Given the description of an element on the screen output the (x, y) to click on. 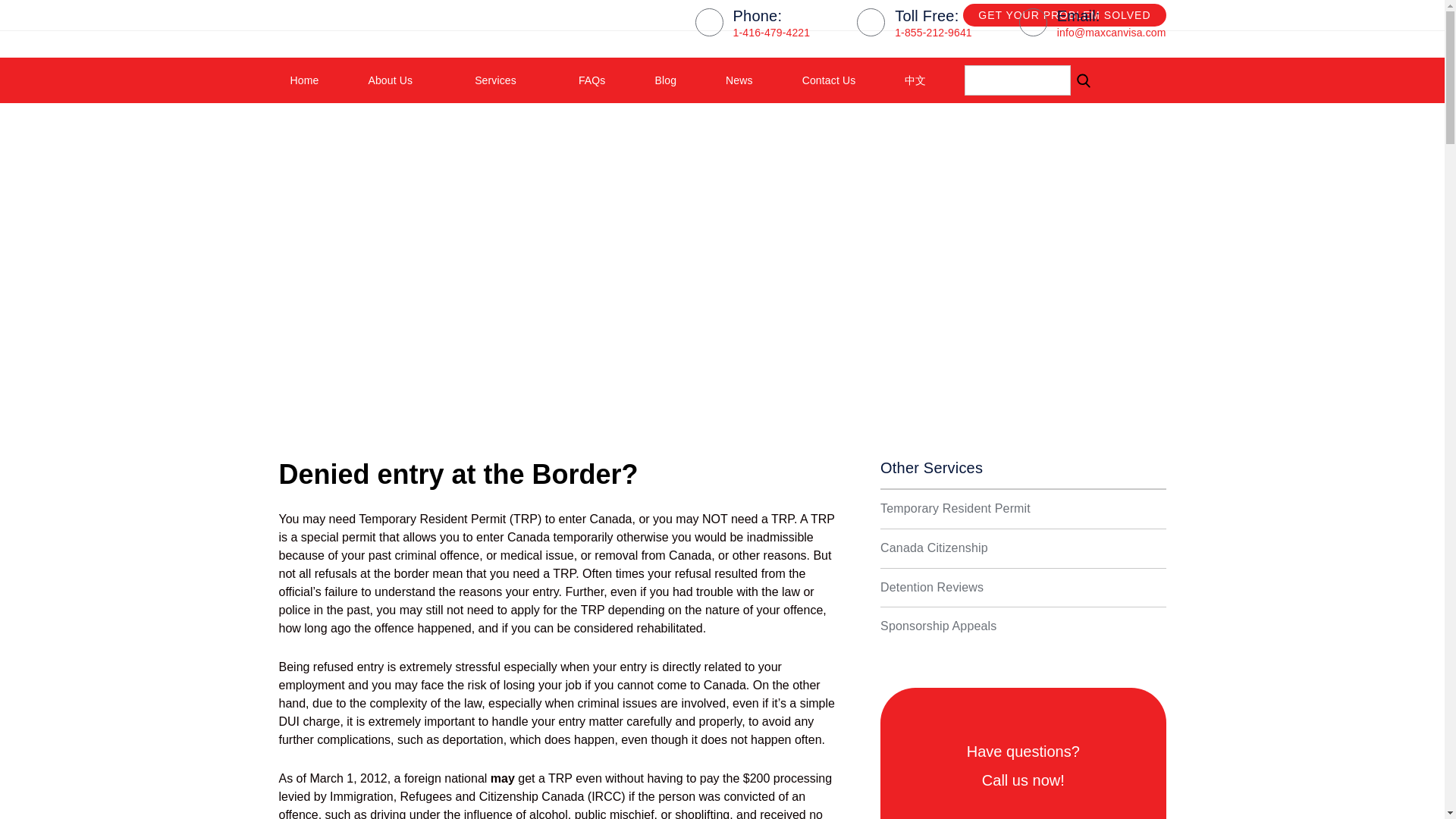
Home (304, 80)
About Us (396, 80)
Services (501, 80)
GET YOUR PROBLEM SOLVED (1064, 15)
